Given the description of an element on the screen output the (x, y) to click on. 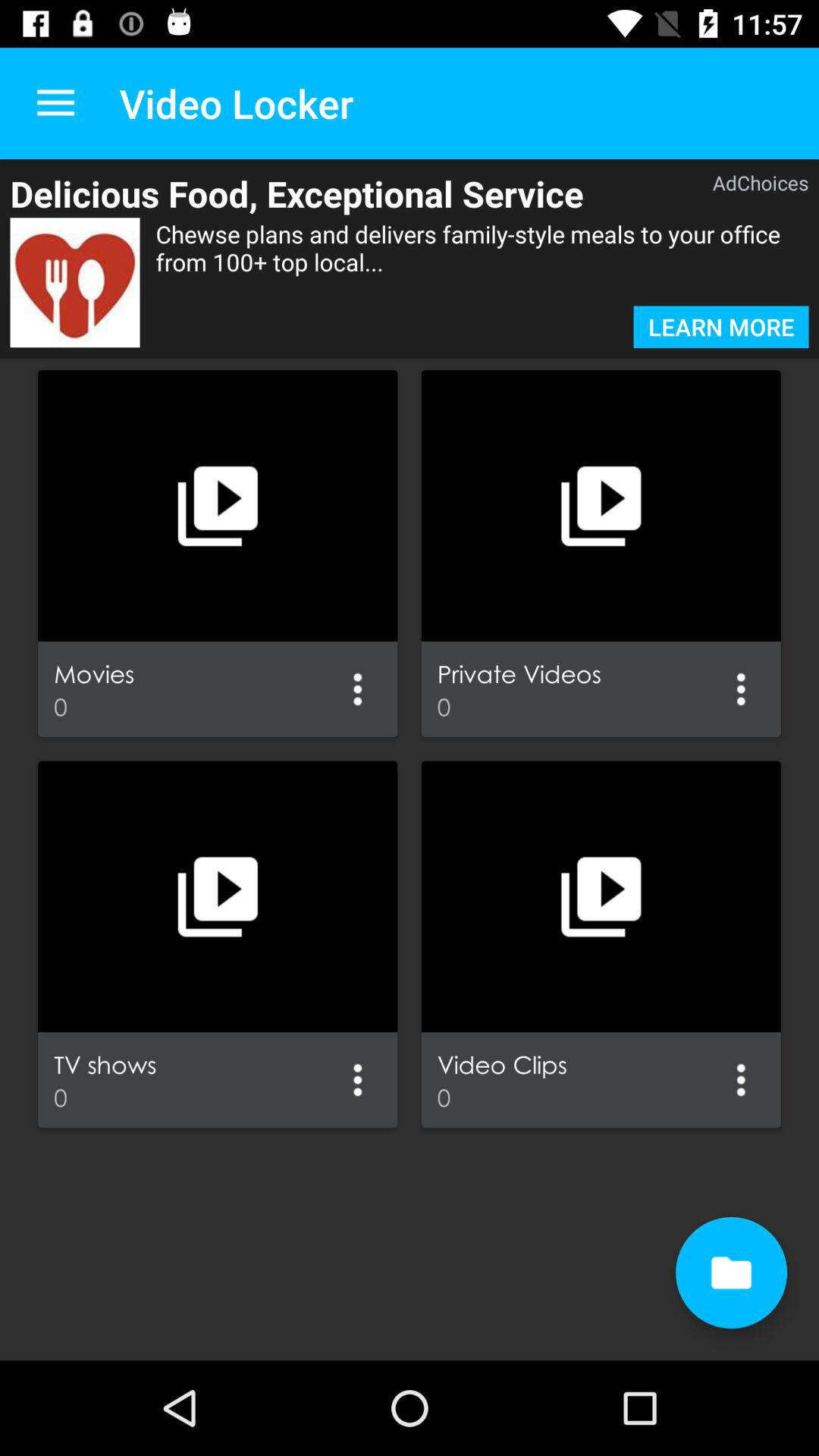
flip until chewse plans and (481, 261)
